Given the description of an element on the screen output the (x, y) to click on. 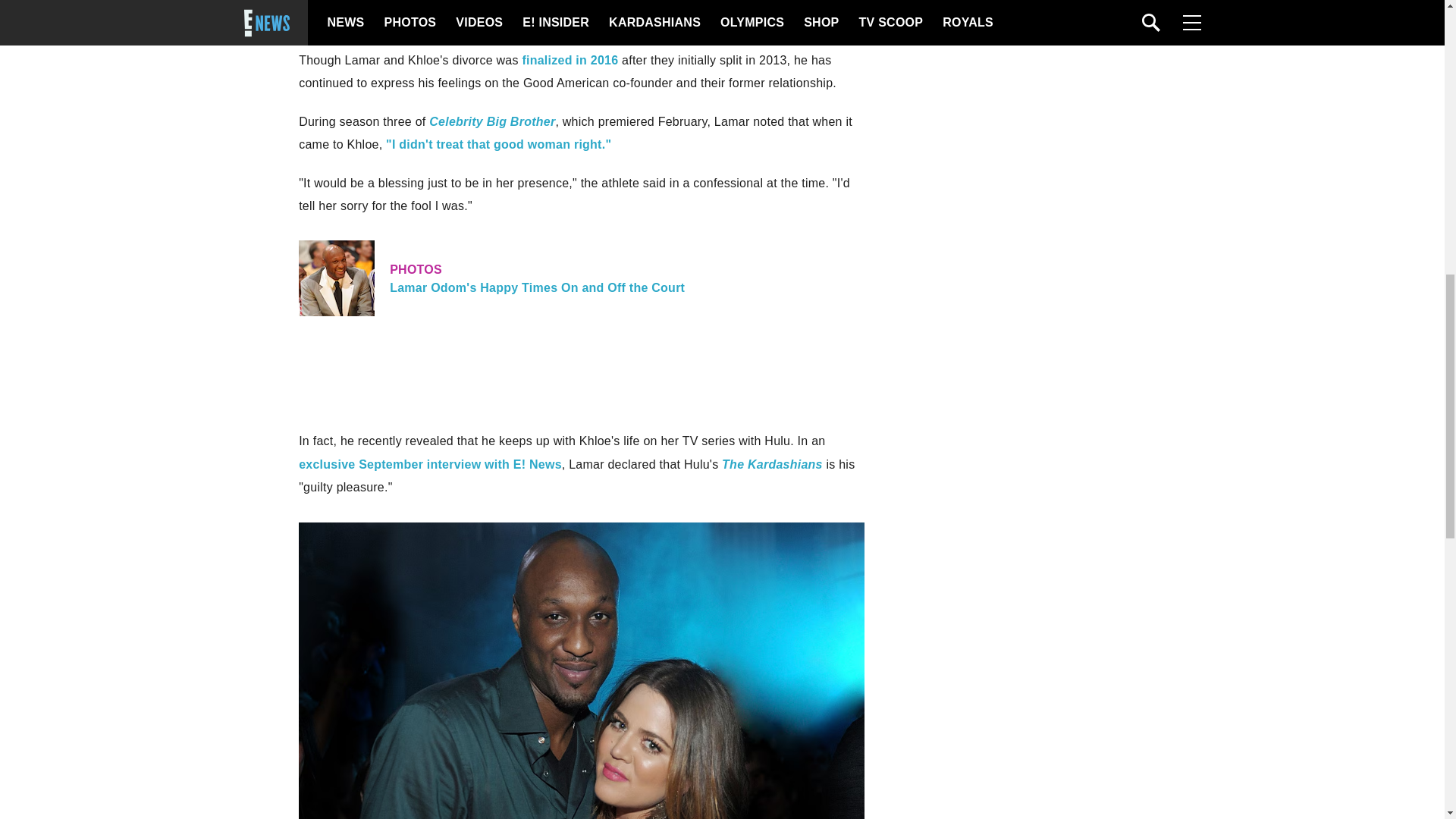
finalized in 2016 (569, 60)
exclusive September interview with E! News (430, 463)
"I didn't treat that good woman right." (498, 144)
The Kardashians (581, 278)
Celebrity Big Brother (772, 463)
